Given the description of an element on the screen output the (x, y) to click on. 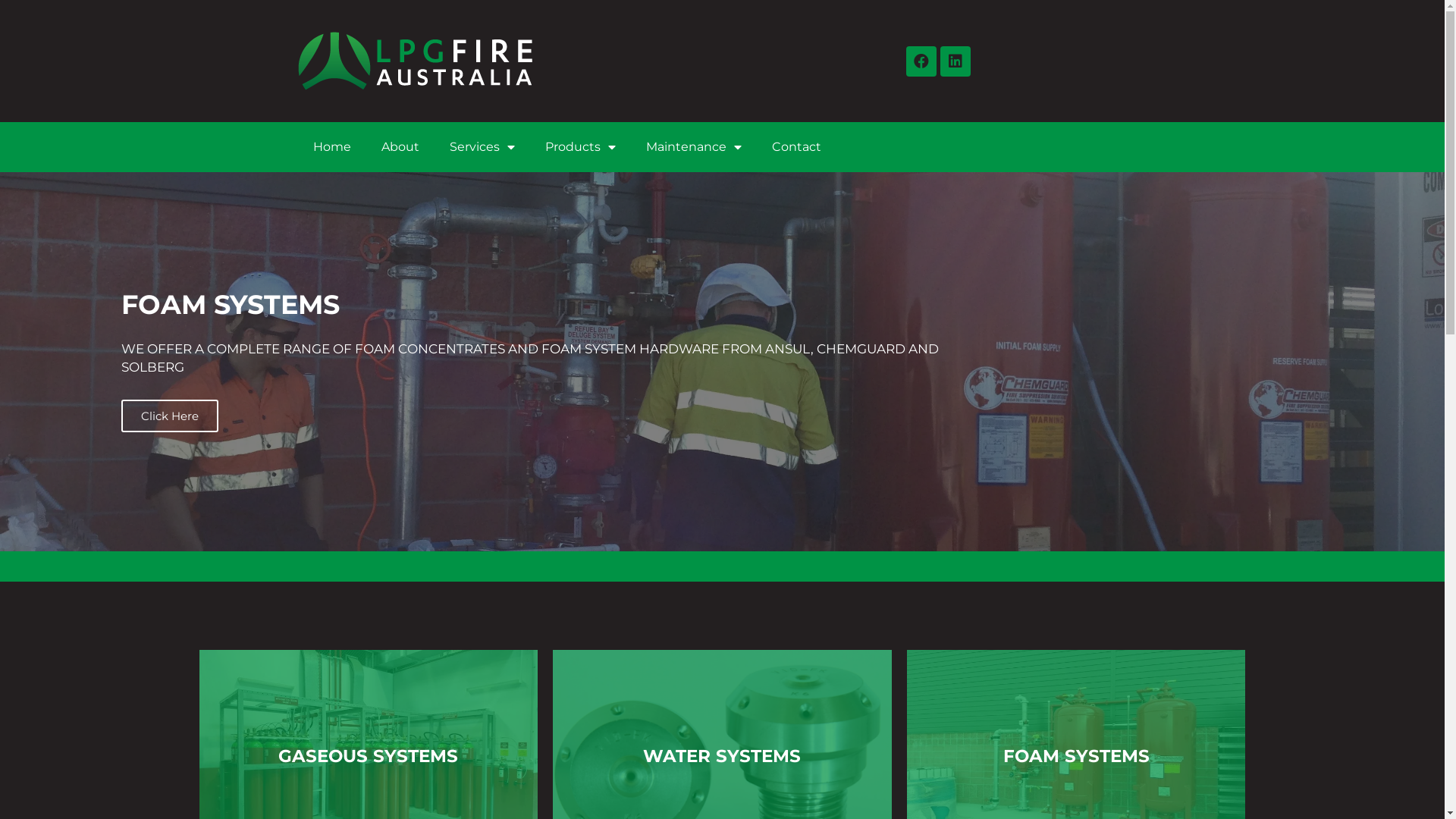
Maintenance Element type: text (693, 146)
Services Element type: text (481, 146)
Contact Element type: text (796, 146)
Products Element type: text (579, 146)
About Element type: text (399, 146)
Home Element type: text (331, 146)
